Given the description of an element on the screen output the (x, y) to click on. 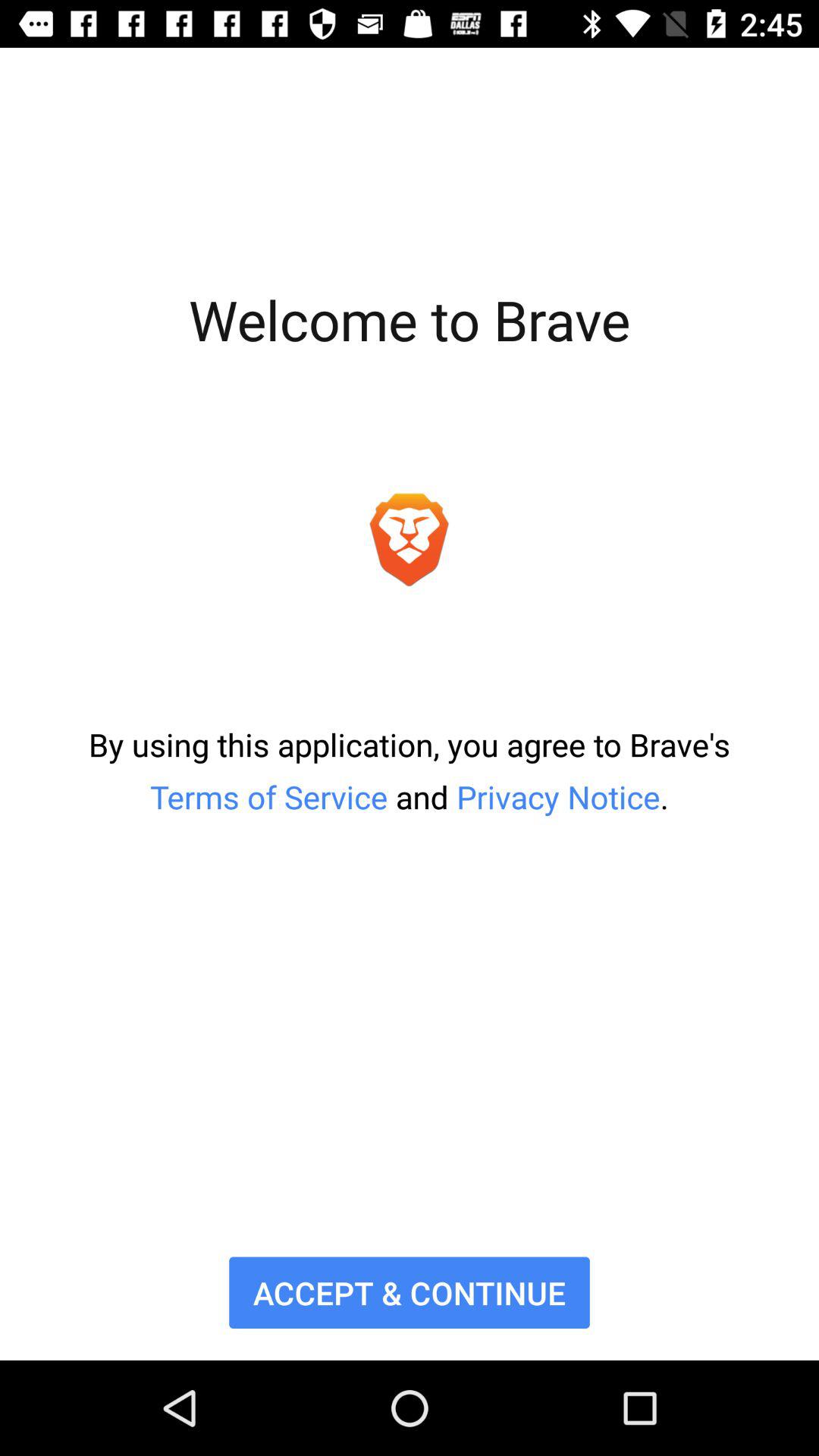
scroll until the accept & continue icon (409, 1292)
